Given the description of an element on the screen output the (x, y) to click on. 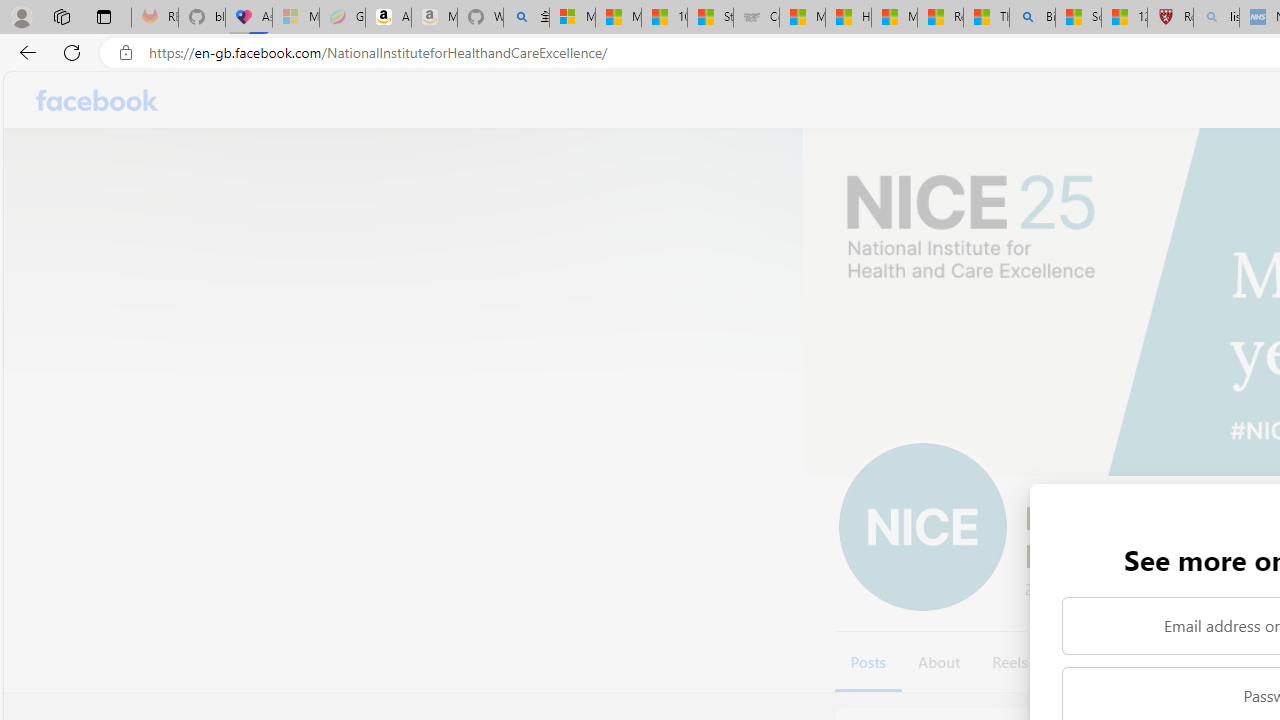
How I Got Rid of Microsoft Edge's Unnecessary Features (848, 17)
Robert H. Shmerling, MD - Harvard Health (1170, 17)
Facebook (97, 99)
12 Popular Science Lies that Must be Corrected (1124, 17)
Stocks - MSN (710, 17)
Facebook (97, 99)
Asthma Inhalers: Names and Types (249, 17)
